Given the description of an element on the screen output the (x, y) to click on. 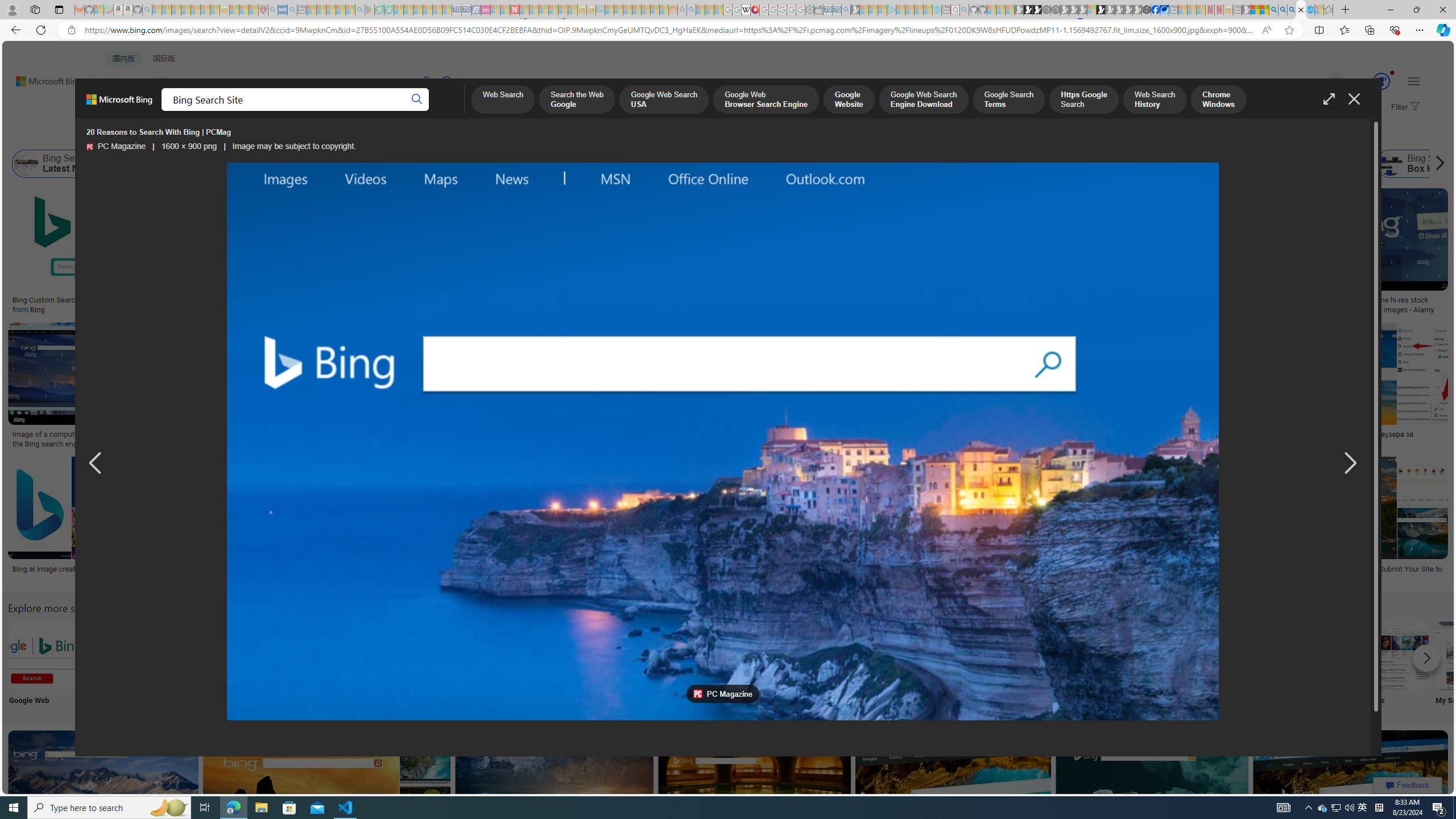
Microsoft Edge (268, 665)
Image Search Bing EngineSave (243, 387)
Dark Mode (342, 665)
Bing Can Now Search for Any Object in an Image (1131, 434)
Bing as Search Engine (171, 163)
Bing Mugs (802, 296)
Bing Home Screen (355, 163)
Image Search Bing Engine (241, 434)
" Bing " search engine web page Stock Photo - AlamySave (777, 387)
Show Bing Search Engine (505, 163)
Bing Advanced Search Tricks You Should Know (460, 299)
Internet Explorer (192, 665)
